Given the description of an element on the screen output the (x, y) to click on. 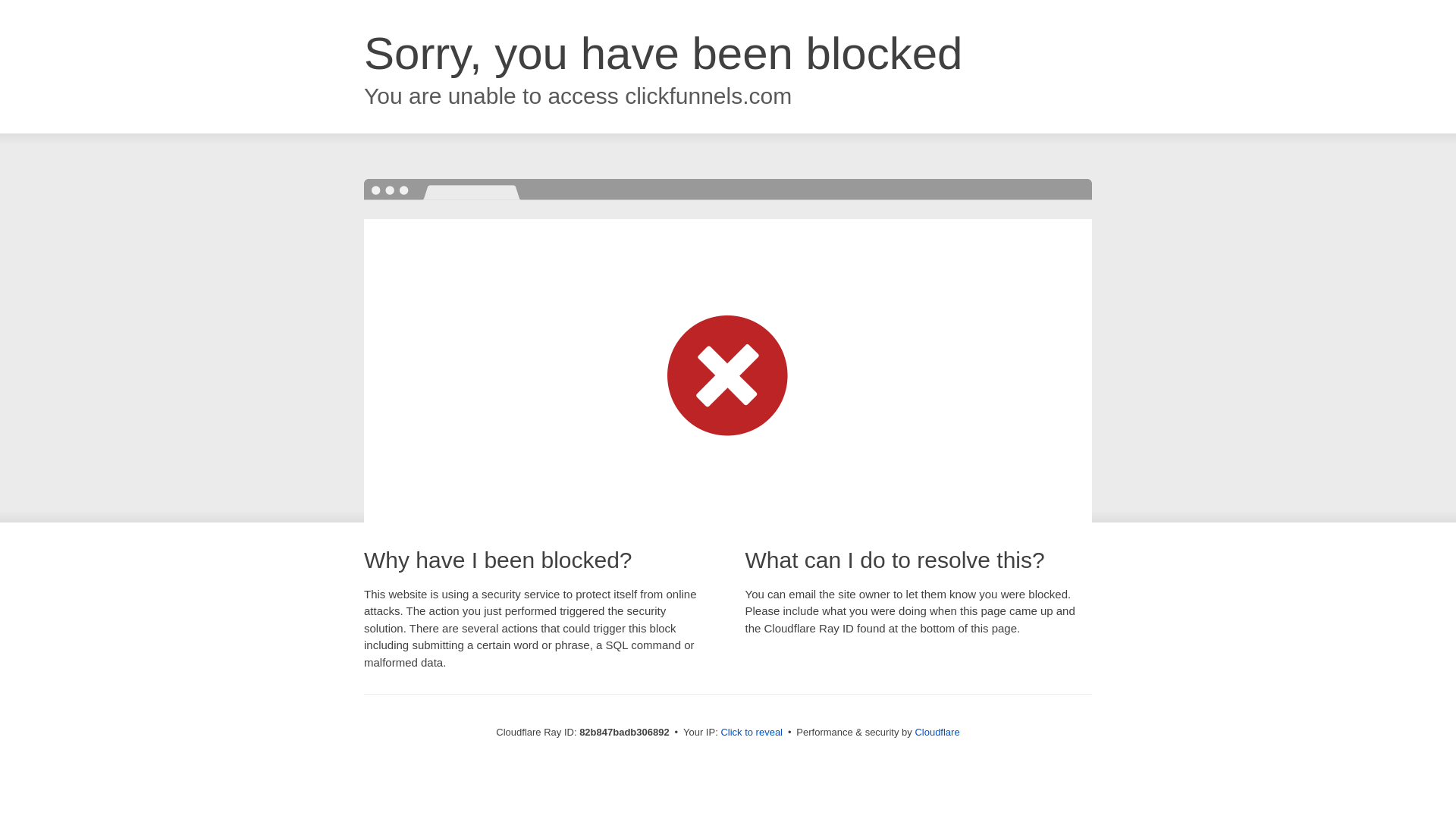
Click to reveal Element type: text (751, 732)
Cloudflare Element type: text (936, 731)
